Given the description of an element on the screen output the (x, y) to click on. 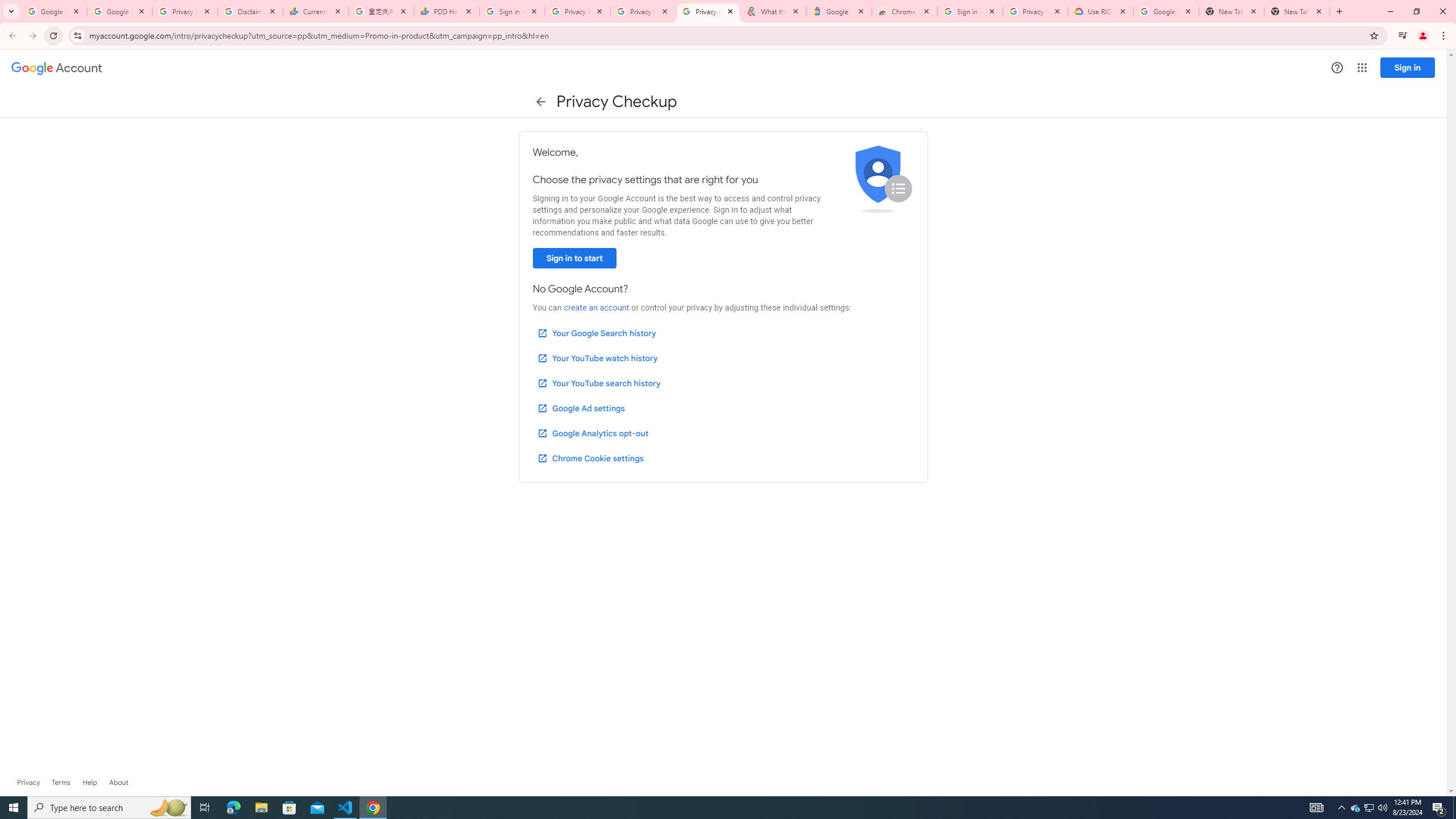
Sign in - Google Accounts (969, 11)
Chrome Cookie settings (589, 457)
Chrome Web Store - Color themes by Chrome (904, 11)
Sign in (1407, 67)
Currencies - Google Finance (315, 11)
Your YouTube watch history (597, 358)
Privacy (28, 782)
Google Account settings (56, 68)
Control your music, videos, and more (1402, 35)
